Given the description of an element on the screen output the (x, y) to click on. 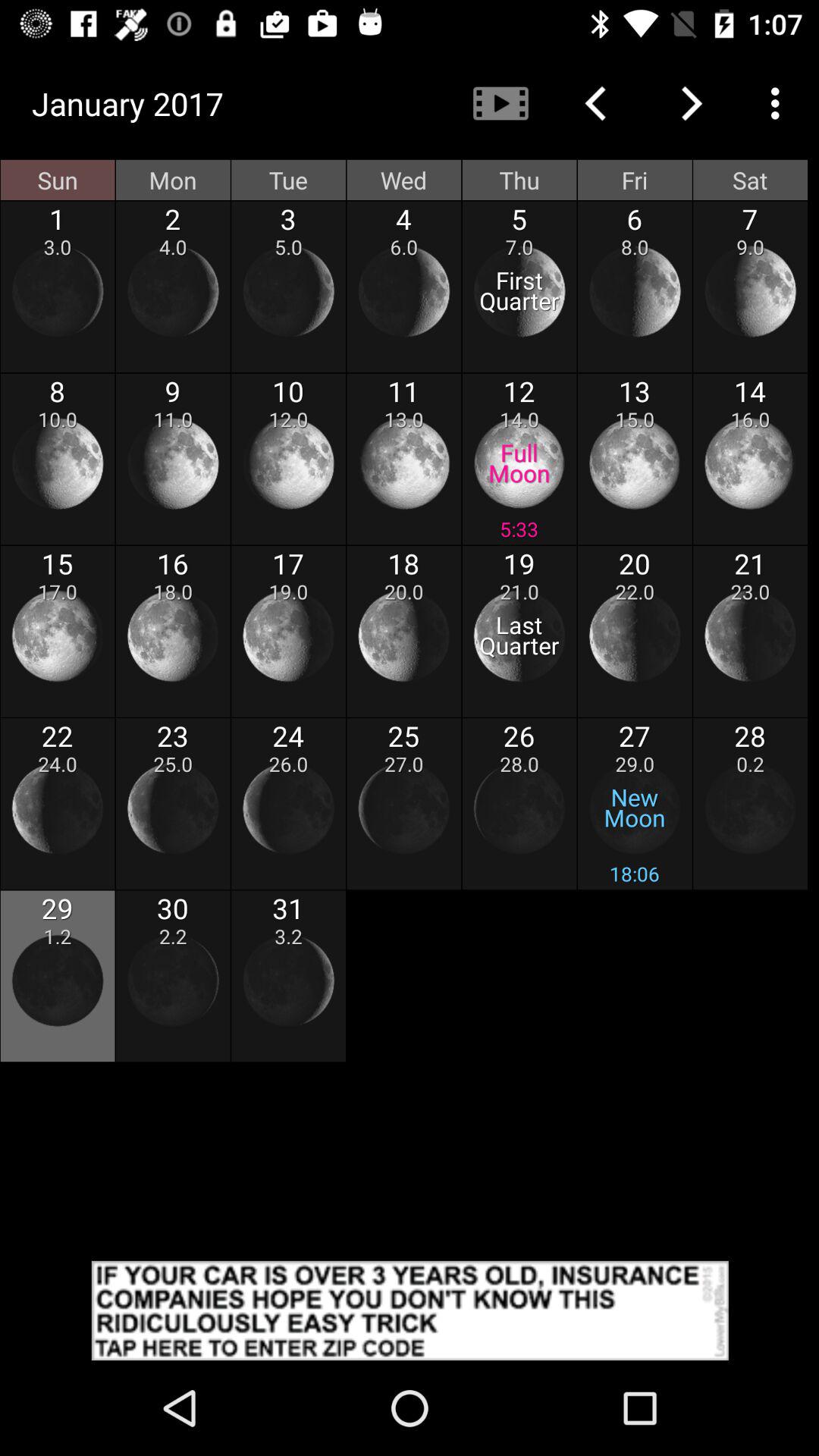
go to play option (500, 103)
